Given the description of an element on the screen output the (x, y) to click on. 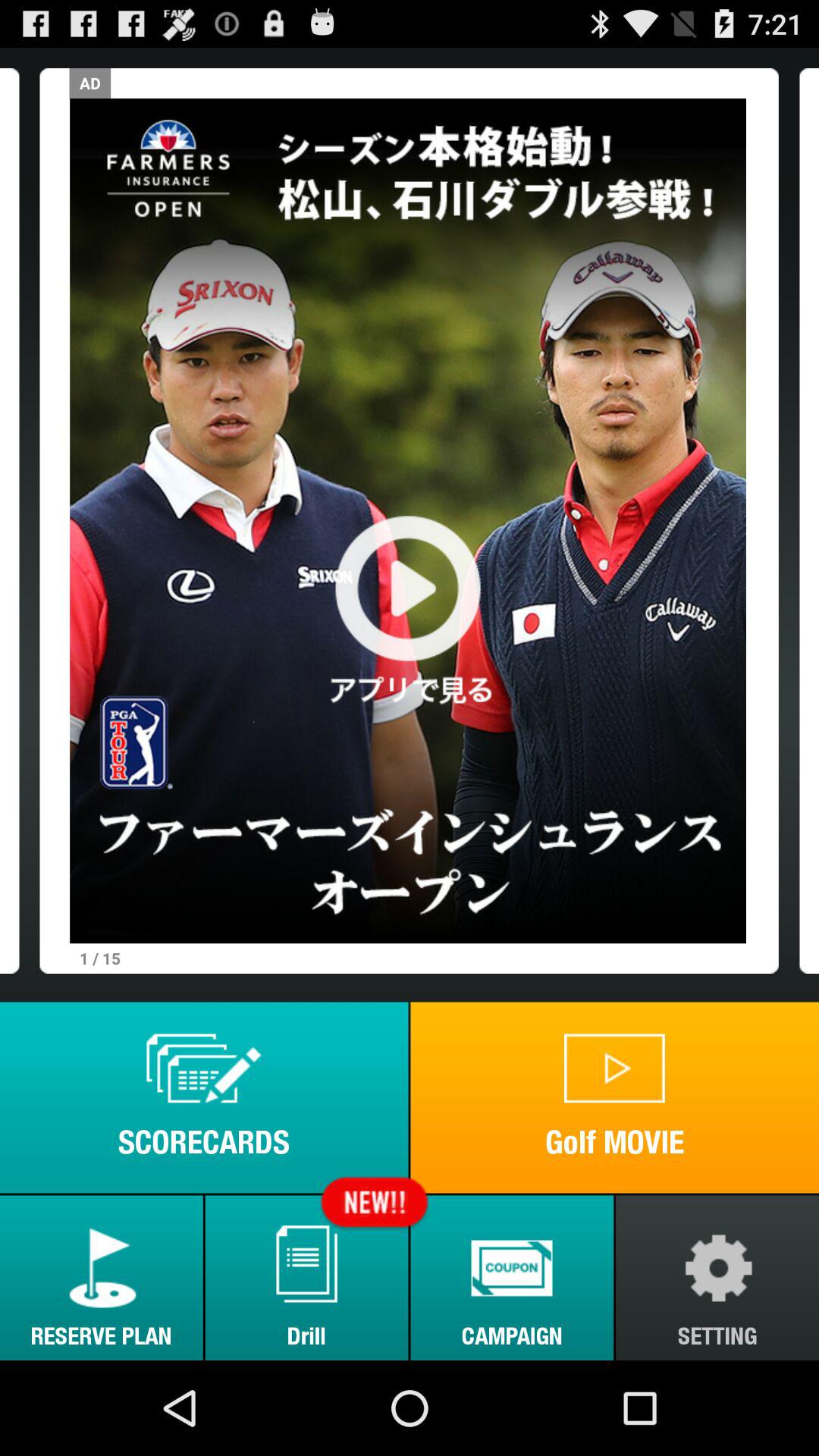
press app below golf movie app (511, 1277)
